Given the description of an element on the screen output the (x, y) to click on. 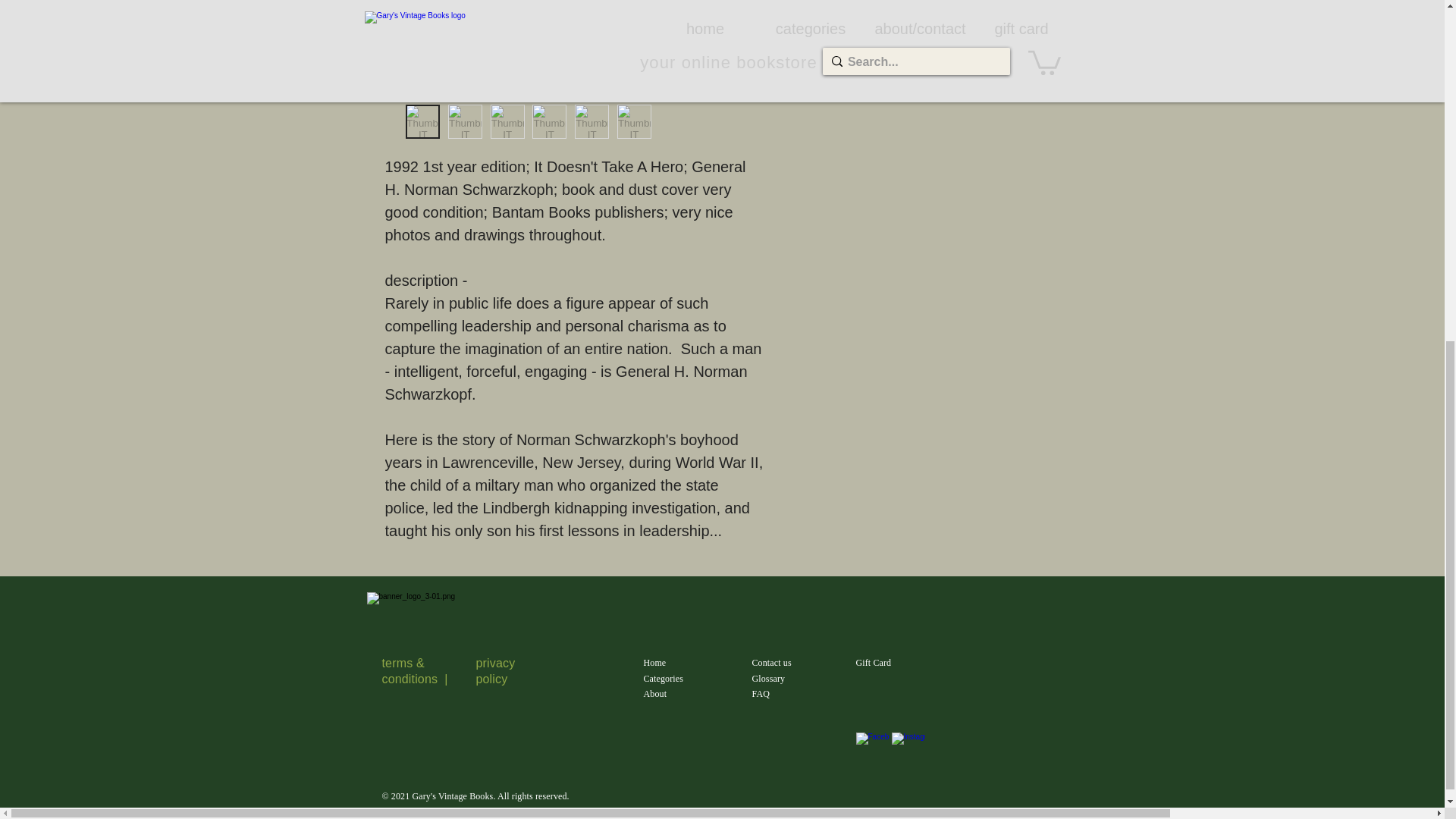
Contact us (772, 662)
Glossary (769, 678)
Gift Card (873, 662)
Categories (662, 678)
FAQ (761, 693)
Home (654, 662)
About (654, 693)
privacy policy (495, 670)
